Given the description of an element on the screen output the (x, y) to click on. 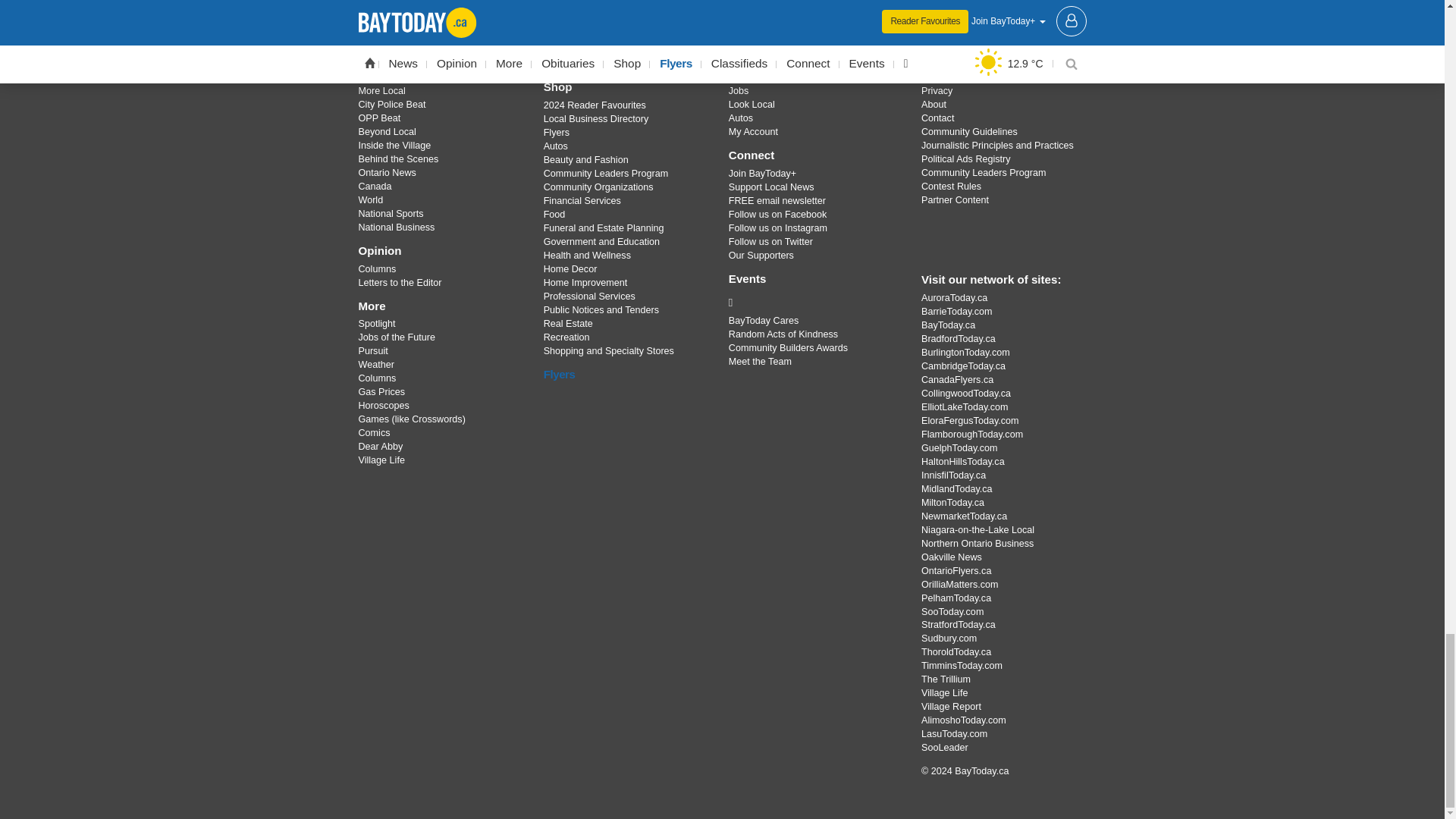
BayToday Cares (813, 302)
